Given the description of an element on the screen output the (x, y) to click on. 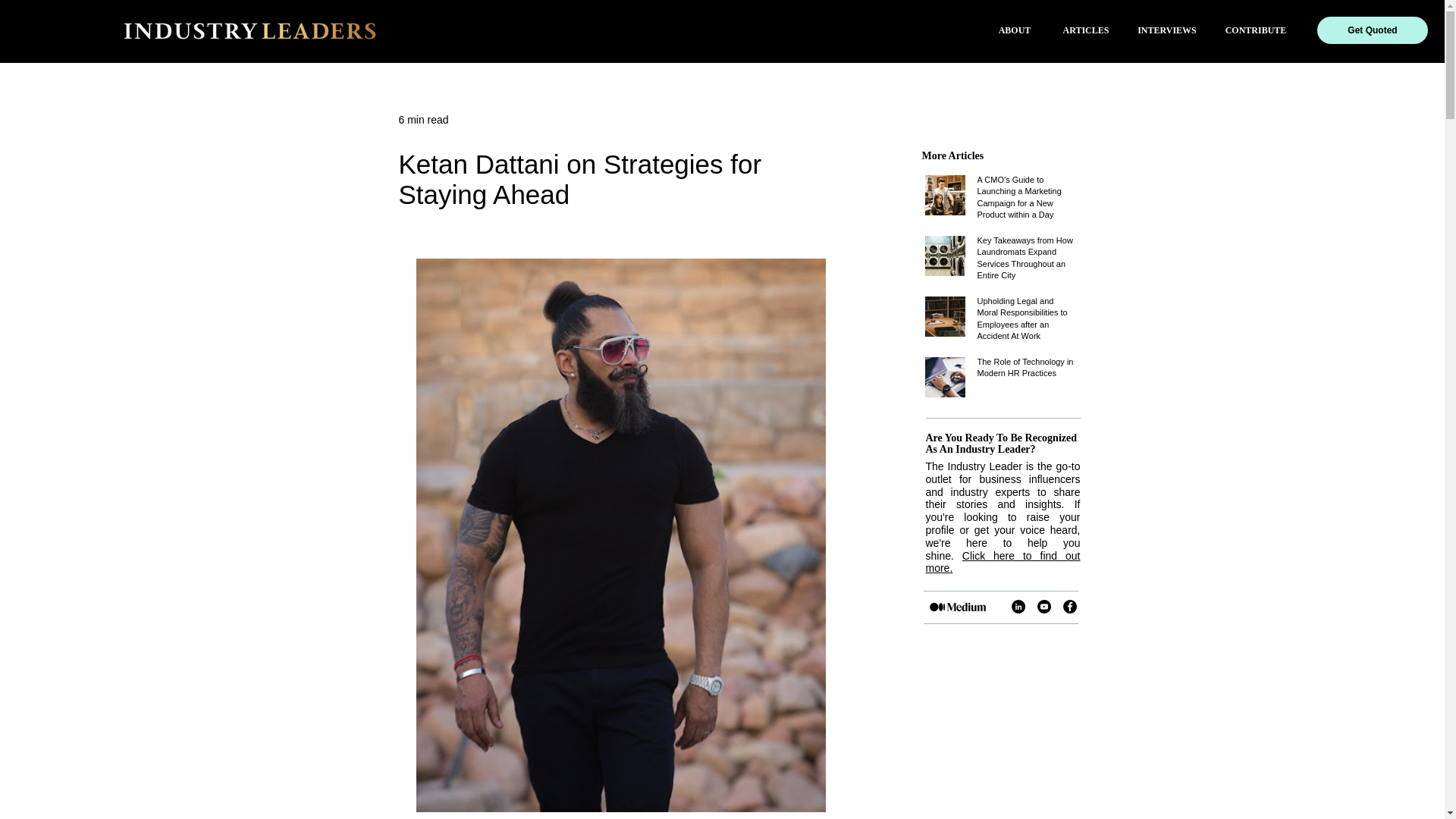
ARTICLES (1086, 30)
More Articles (952, 155)
6 min read (423, 119)
INTERVIEWS (1166, 30)
CONTRIBUTE (1255, 30)
Get Quoted (1372, 30)
Are You Ready To Be Recognized As An Industry Leader? (1000, 443)
The Role of Technology in Modern HR Practices (1025, 370)
